Given the description of an element on the screen output the (x, y) to click on. 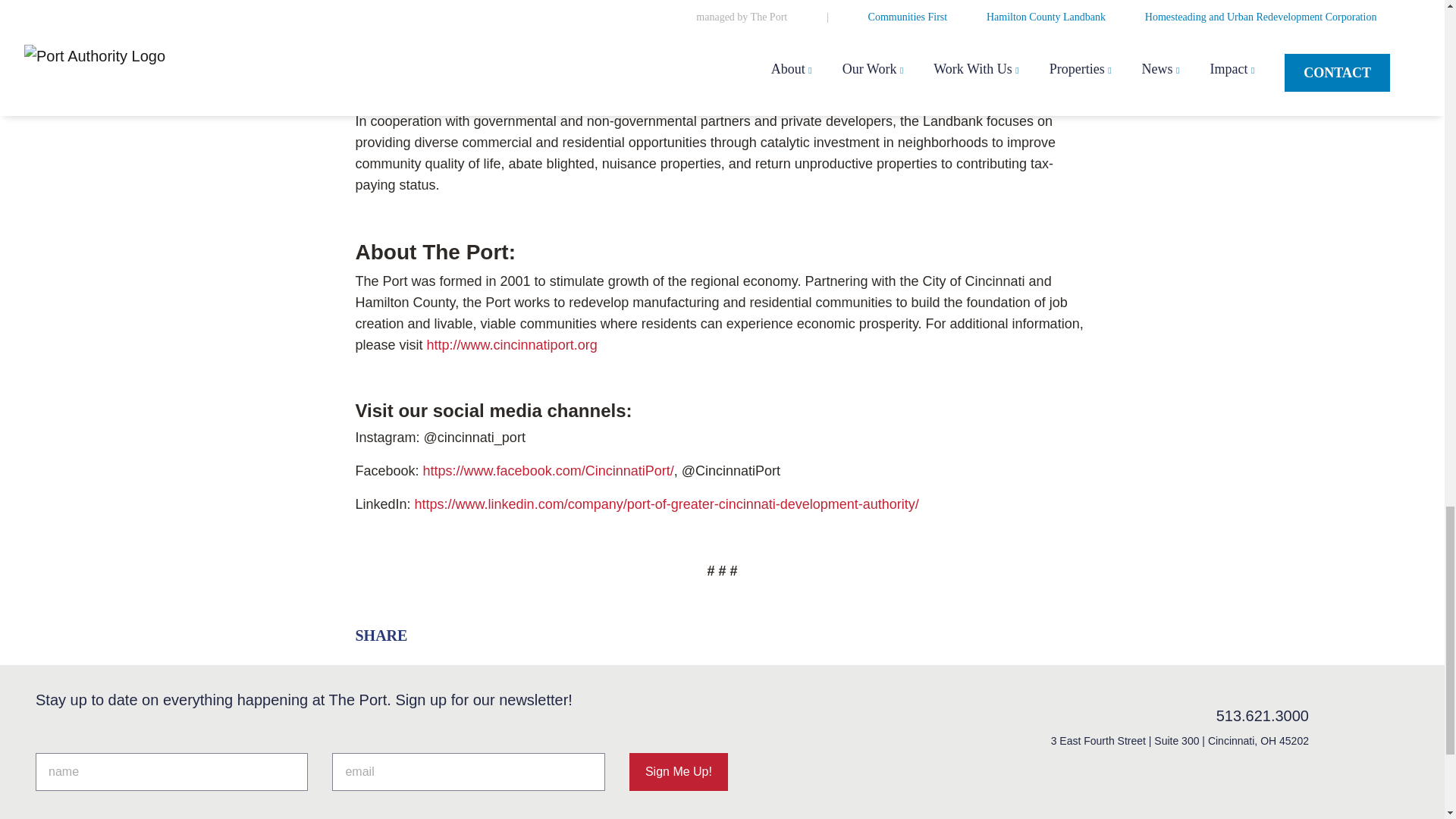
Sign Me Up! (678, 771)
